Given the description of an element on the screen output the (x, y) to click on. 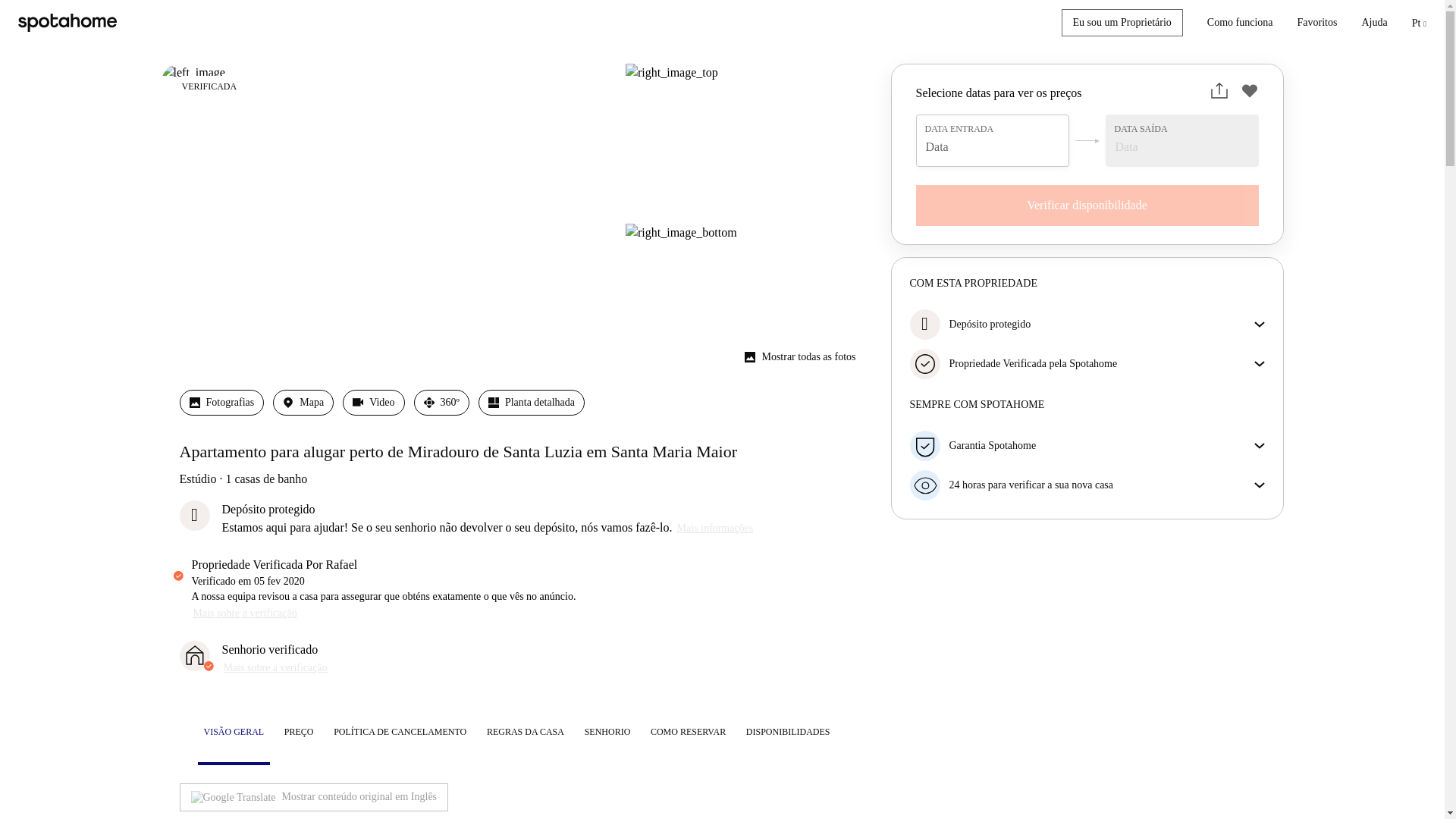
Verificar disponibilidade (1087, 205)
Favoritos (1317, 22)
Como funciona (1239, 22)
Ajuda (1374, 22)
